Given the description of an element on the screen output the (x, y) to click on. 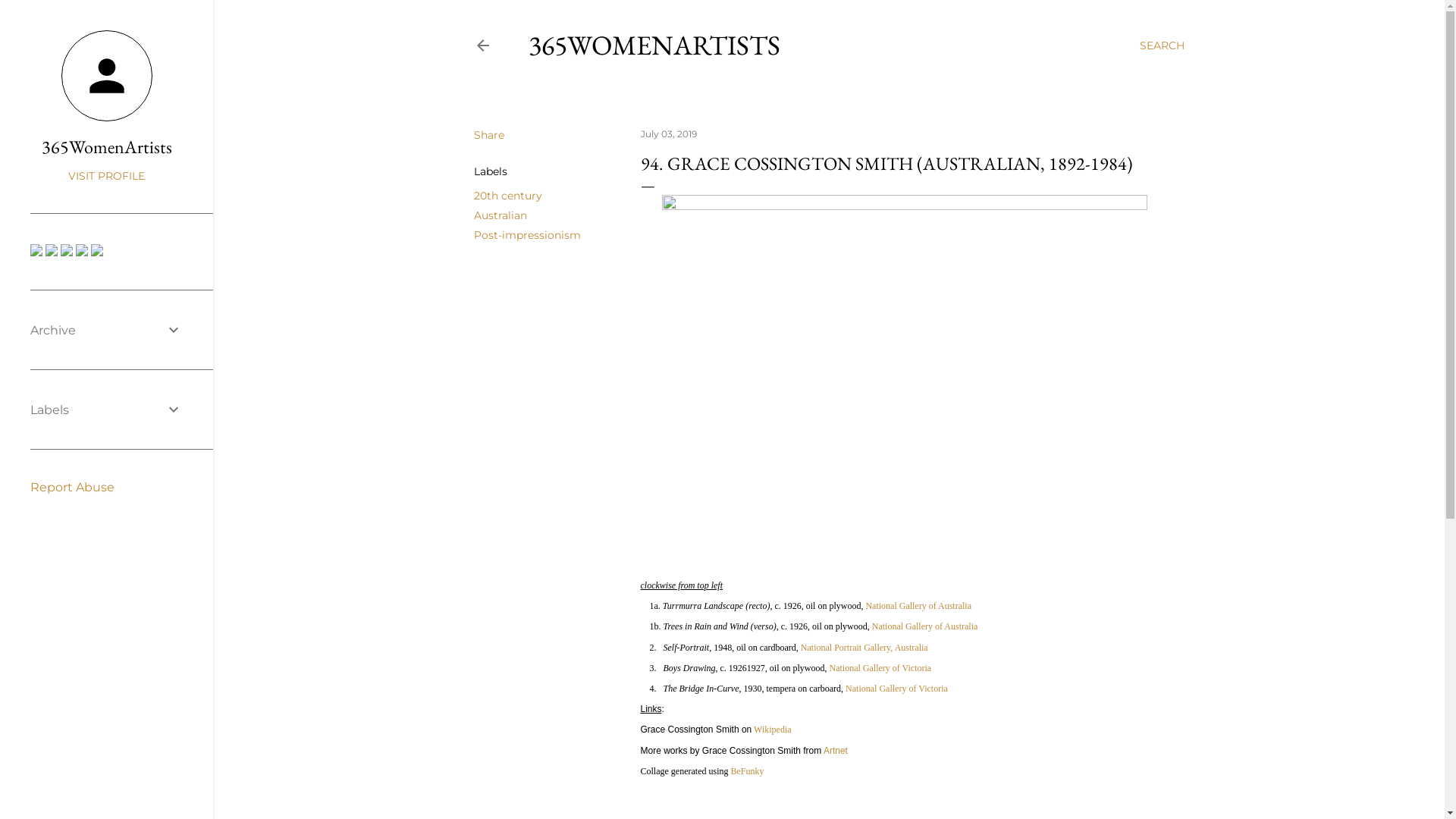
SEARCH Element type: text (1161, 45)
Wikipedia Element type: text (772, 729)
National Gallery of Australia Element type: text (925, 626)
National Gallery of Australia Element type: text (918, 605)
Artnet Element type: text (835, 749)
20th century Element type: text (507, 195)
BeFunky Element type: text (746, 770)
National Portrait Gallery, Australia Element type: text (864, 647)
Share Element type: text (488, 134)
365WomenArtists Element type: text (106, 146)
July 03, 2019 Element type: text (668, 133)
National Gallery of Victoria Element type: text (896, 688)
Australian Element type: text (499, 215)
VISIT PROFILE Element type: text (106, 175)
Post-impressionism Element type: text (526, 234)
National Gallery of Victoria Element type: text (880, 667)
365WOMENARTISTS Element type: text (653, 44)
Report Abuse Element type: text (72, 487)
